Given the description of an element on the screen output the (x, y) to click on. 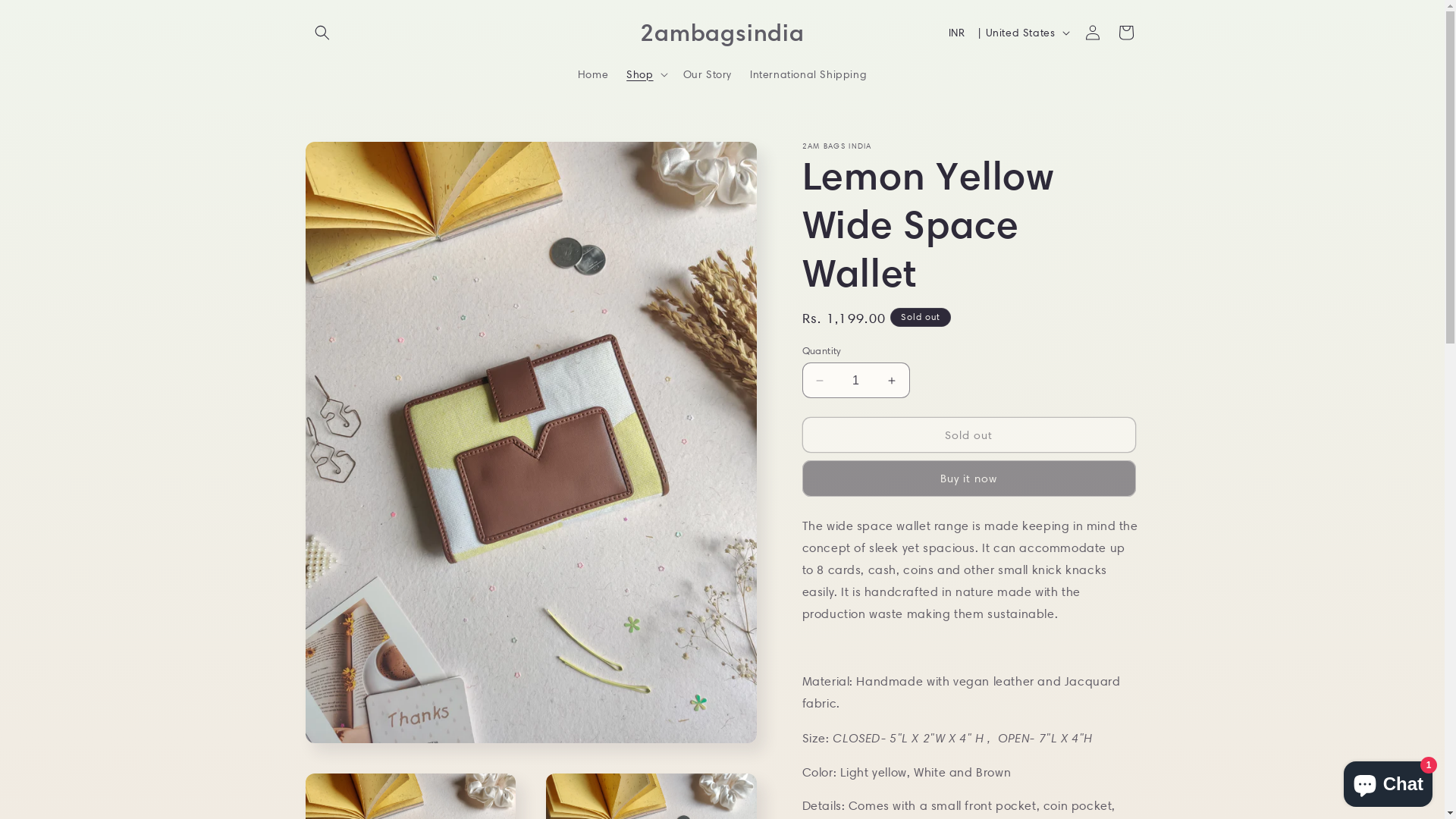
Our Story Element type: text (707, 74)
Log in Element type: text (1091, 32)
Cart Element type: text (1125, 32)
2ambagsindia Element type: text (721, 32)
Sold out Element type: text (968, 434)
Buy it now Element type: text (968, 478)
Shopify online store chat Element type: hover (1388, 780)
Skip to product information Element type: text (350, 158)
Decrease quantity for Lemon Yellow Wide Space Wallet Element type: text (819, 380)
Home Element type: text (592, 74)
Increase quantity for Lemon Yellow Wide Space Wallet Element type: text (892, 380)
International Shipping Element type: text (807, 74)
